Given the description of an element on the screen output the (x, y) to click on. 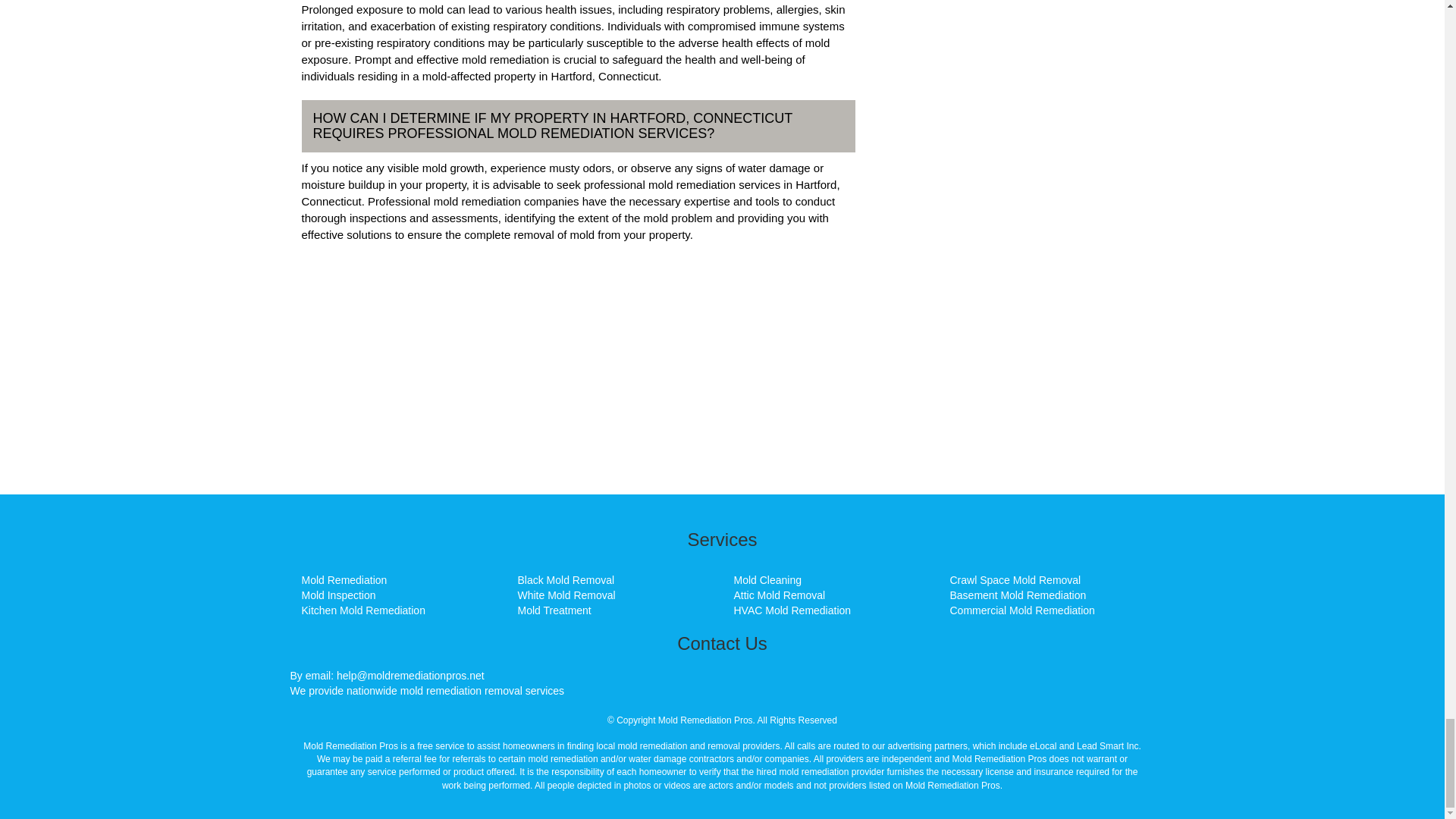
Mold Remediation (344, 580)
Mold Inspection (338, 594)
White Mold Removal (565, 594)
Kitchen Mold Remediation (363, 610)
Black Mold Removal (565, 580)
